Given the description of an element on the screen output the (x, y) to click on. 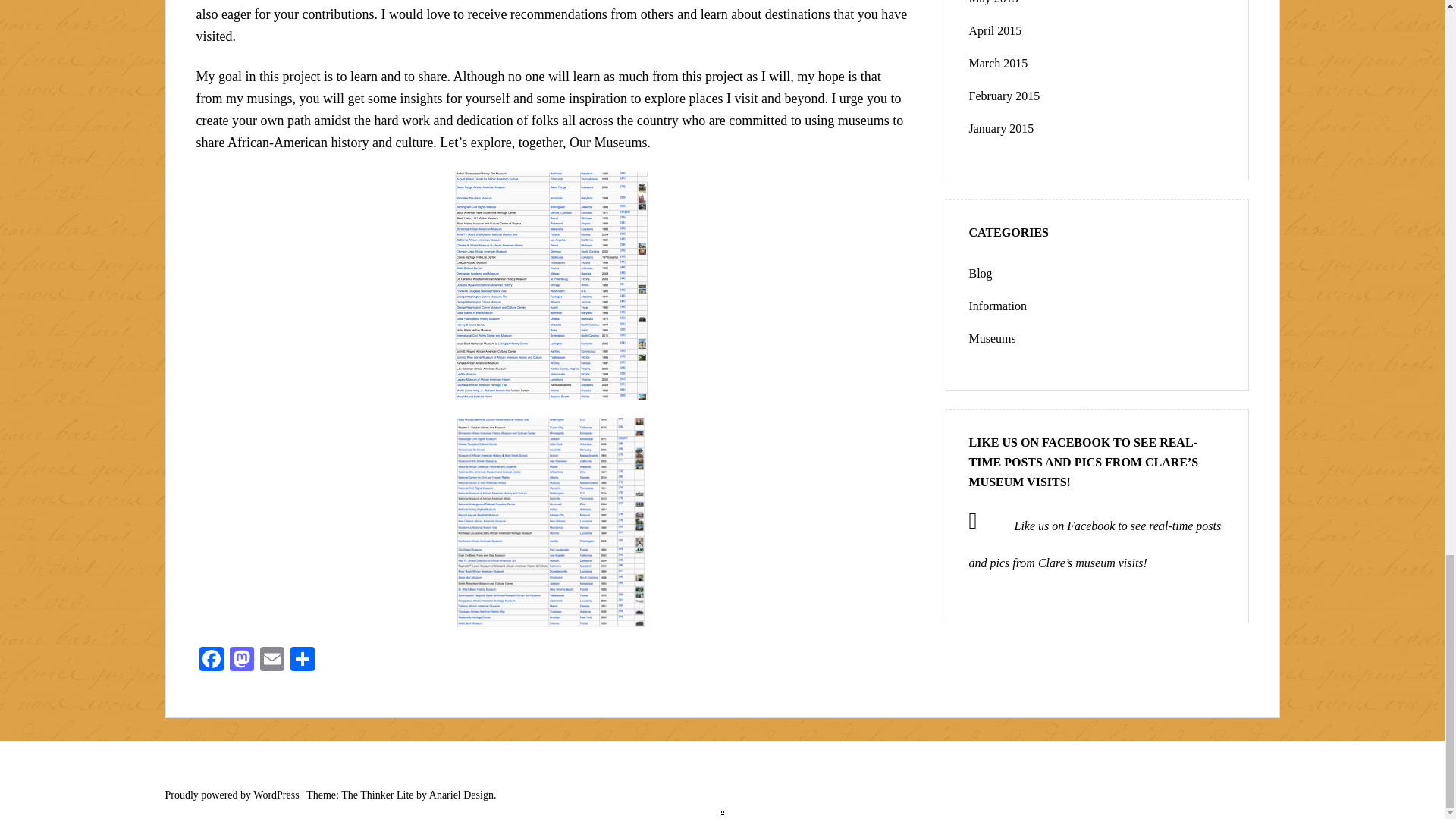
Mastodon (240, 660)
Mastodon (240, 660)
Email (271, 660)
A Semantic Personal Publishing Platform (232, 794)
Facebook (210, 660)
Email (271, 660)
Share (301, 660)
Facebook (210, 660)
